Given the description of an element on the screen output the (x, y) to click on. 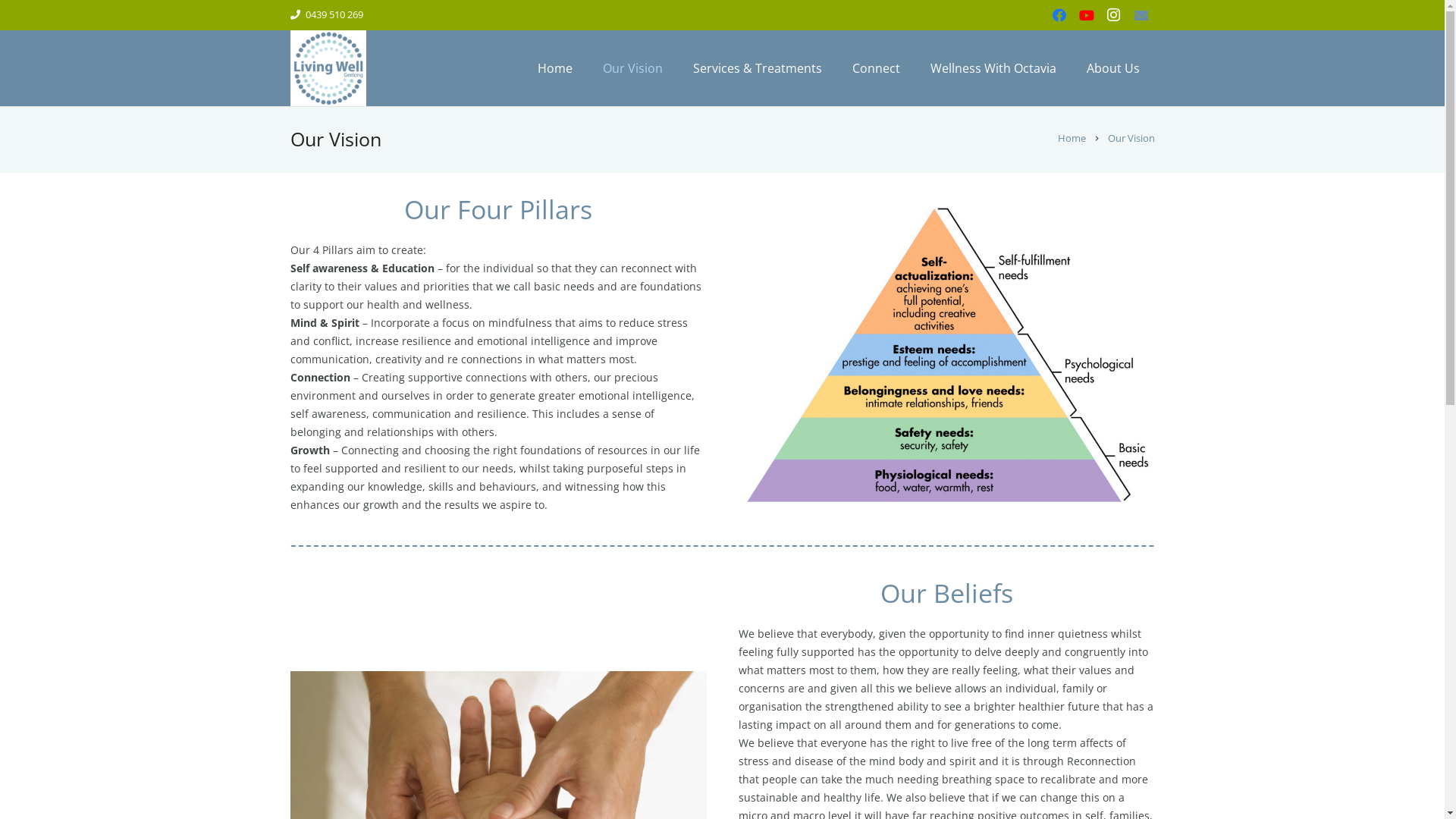
YouTube Element type: hover (1085, 14)
Our Vision Element type: text (632, 68)
Wellness With Octavia Element type: text (993, 68)
Connect Element type: text (876, 68)
Services & Treatments Element type: text (757, 68)
Home Element type: text (554, 68)
About Us Element type: text (1112, 68)
Facebook Element type: hover (1058, 14)
Instagram Element type: hover (1112, 14)
0439 510 269 Element type: text (326, 14)
Our Vision Element type: text (1130, 137)
Title Element type: hover (1140, 14)
Home Element type: text (1071, 137)
